Given the description of an element on the screen output the (x, y) to click on. 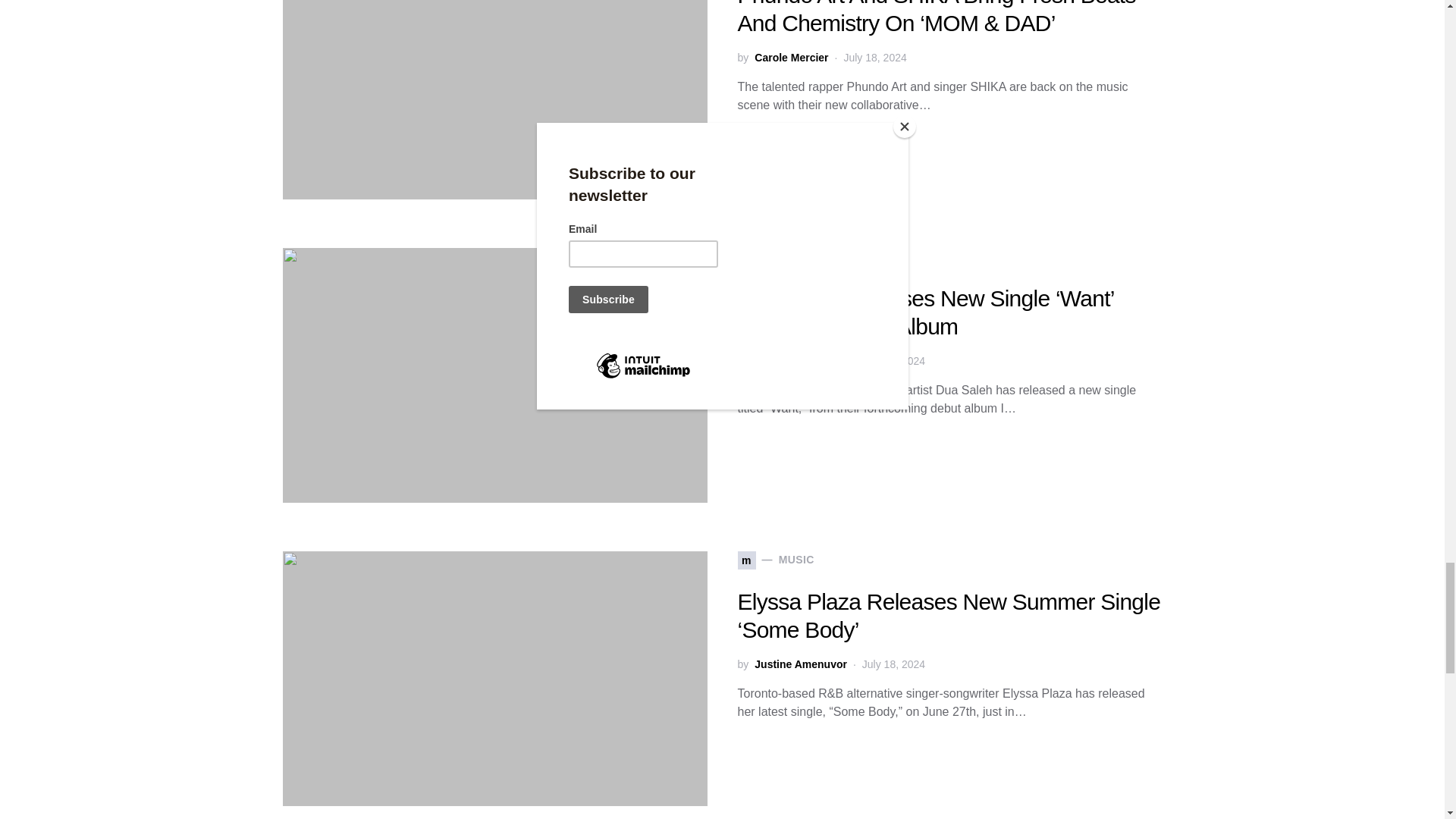
View all posts by Justine Amenuvor (800, 664)
View all posts by Justine Amenuvor (800, 360)
View all posts by Carole Mercier (791, 57)
